Given the description of an element on the screen output the (x, y) to click on. 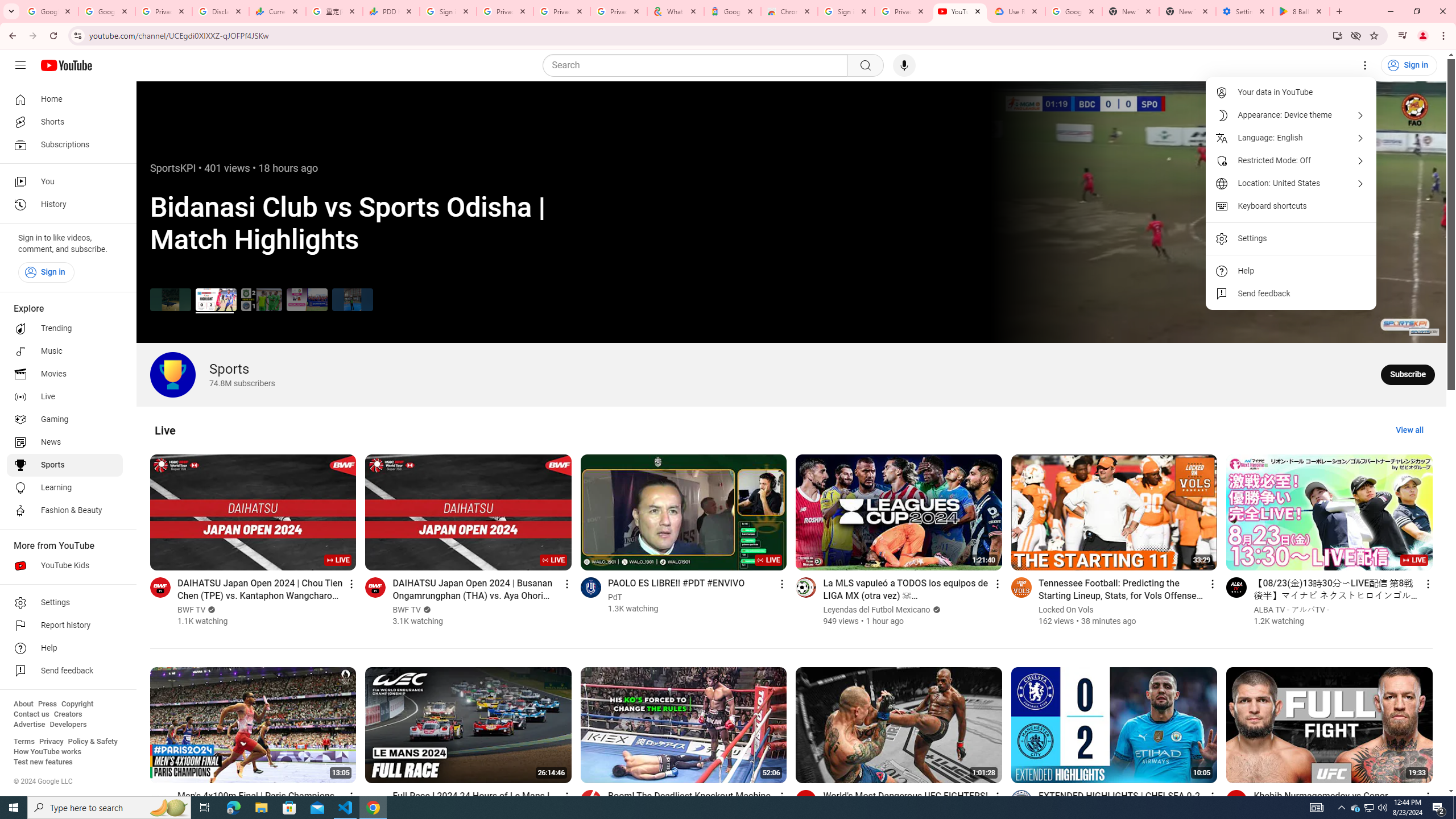
Settings (1365, 65)
New Tab (1187, 11)
Advertise (29, 724)
Gaming (64, 419)
Subscriptions (64, 144)
Trending (64, 328)
Subscribe to Sports. (1407, 374)
Learning (64, 487)
YouTube Home (66, 65)
